Given the description of an element on the screen output the (x, y) to click on. 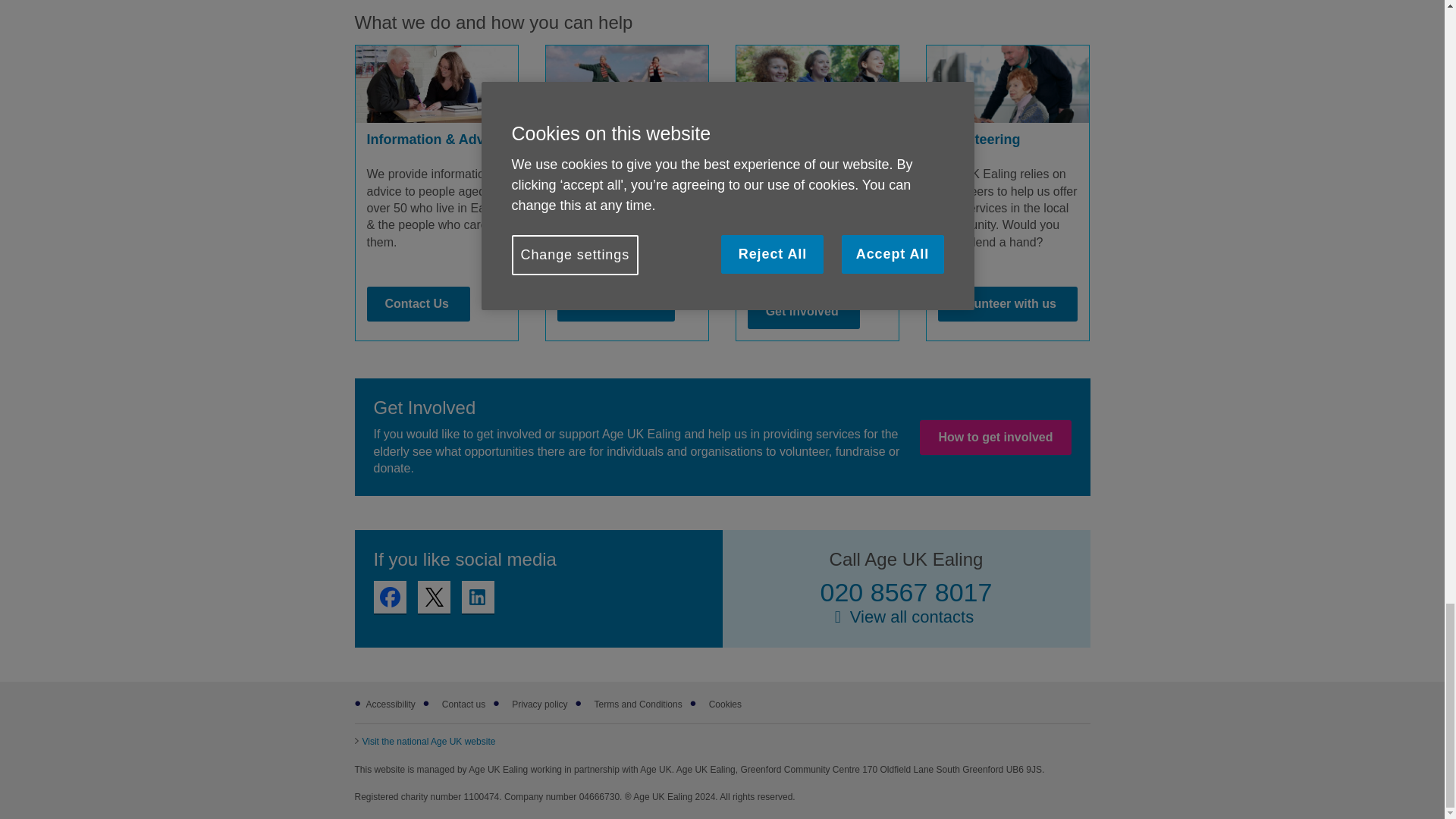
Twitter (432, 596)
Facebook (389, 596)
opens in a new window (425, 741)
LinkedIn (477, 596)
